Given the description of an element on the screen output the (x, y) to click on. 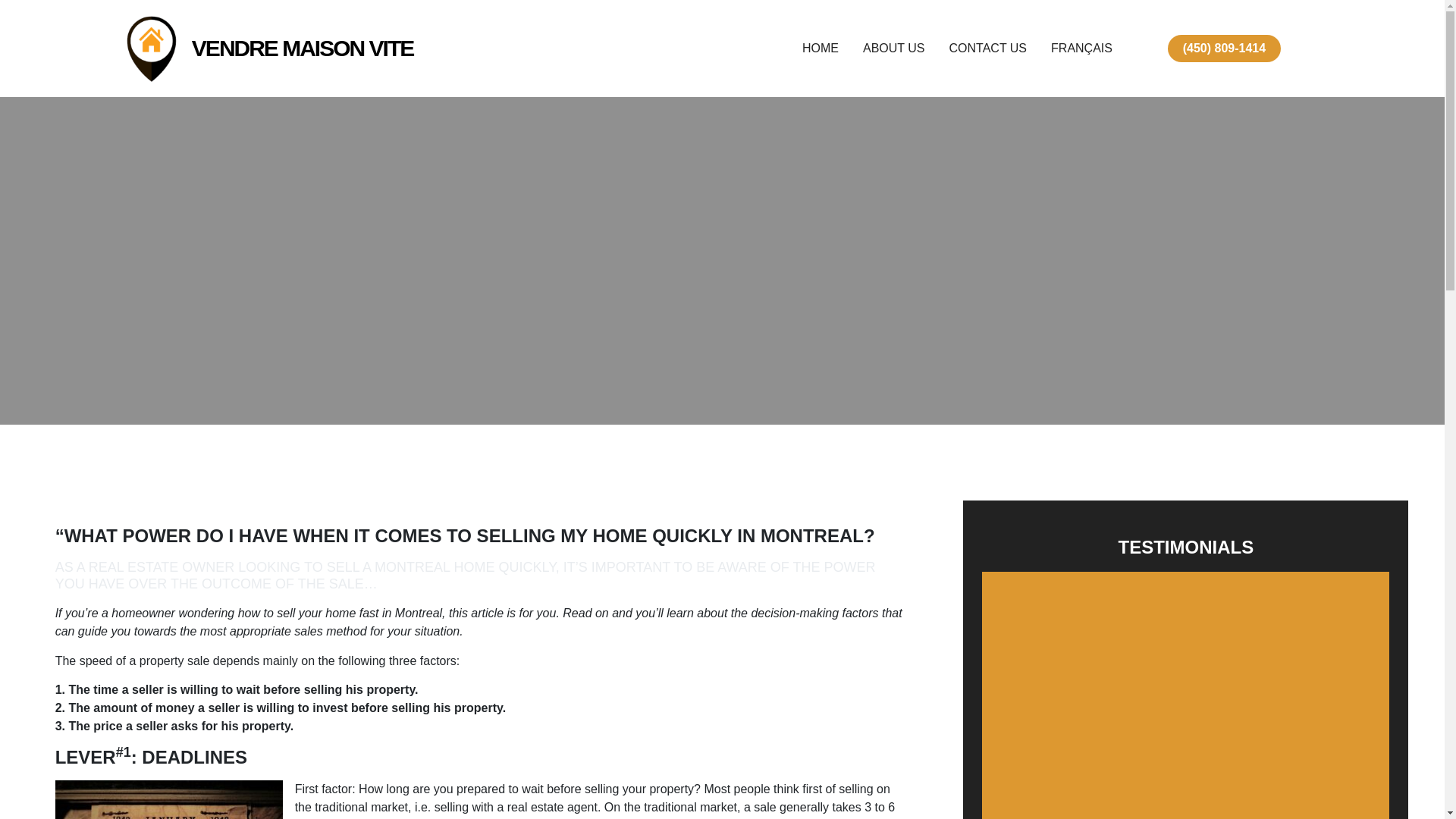
CONTACT US (988, 47)
ABOUT US (893, 47)
HOME (820, 47)
VENDRE MAISON VITE (302, 48)
